Given the description of an element on the screen output the (x, y) to click on. 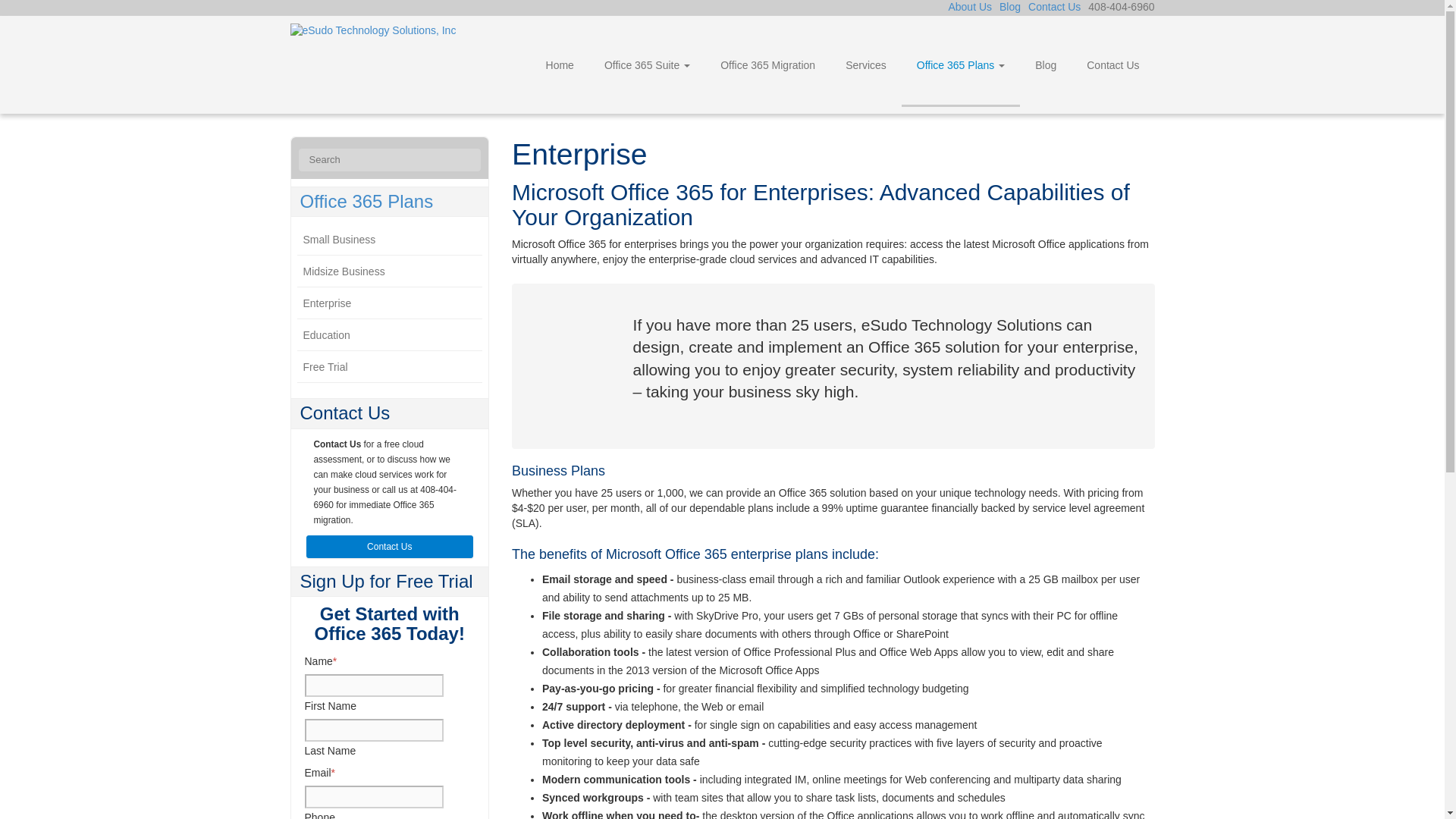
Contact Us (389, 546)
Enterprise (390, 303)
Blog (1009, 6)
Contact Us (1053, 6)
Search (471, 153)
Office 365 Plans (960, 65)
Midsize Business (390, 271)
Small Business (390, 239)
Office 365 Suite (646, 65)
About Us (969, 6)
